Given the description of an element on the screen output the (x, y) to click on. 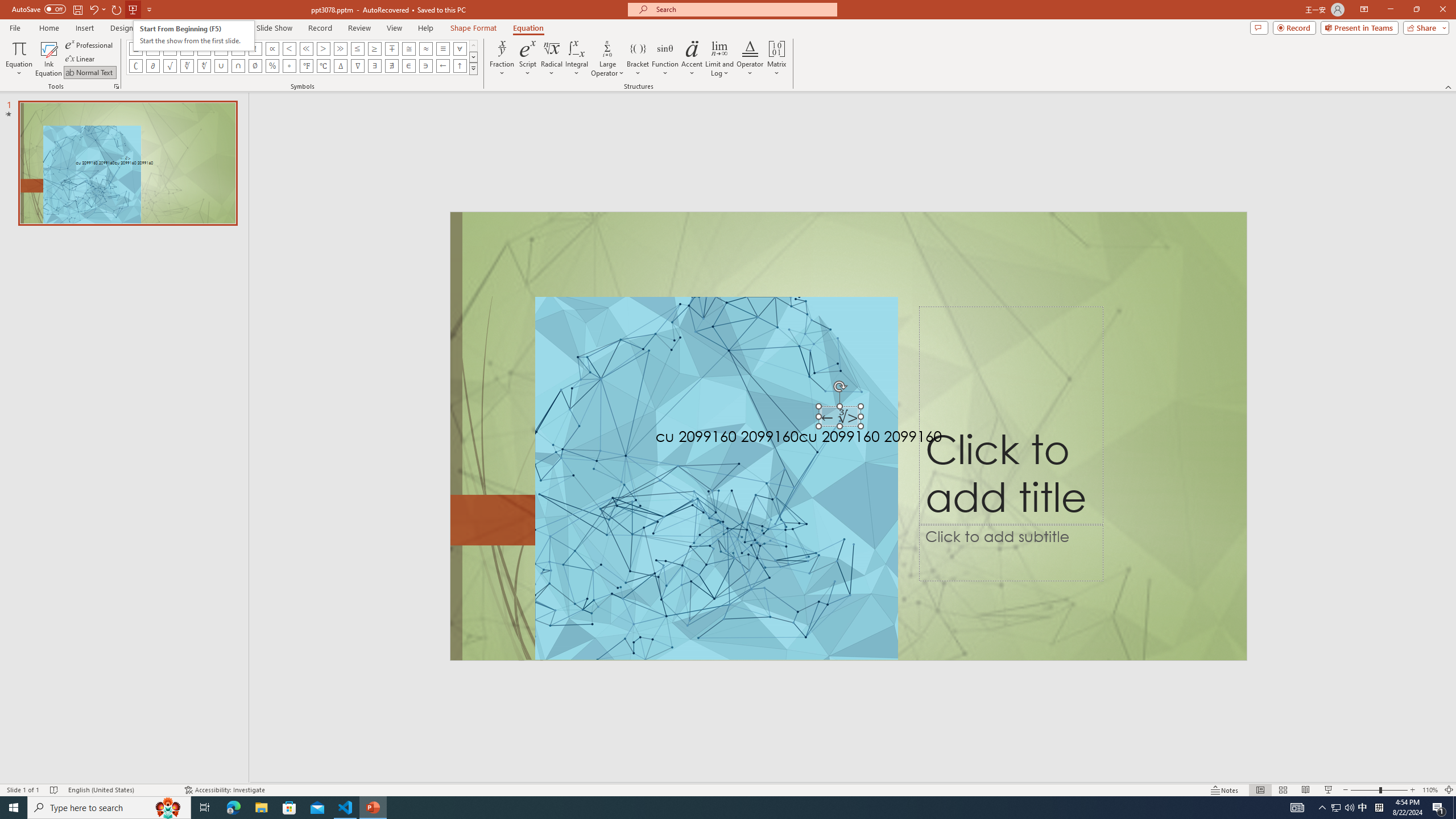
Operator (749, 58)
Equation Symbol Factorial (255, 48)
Large Operator (607, 58)
Equation Symbol Radical Sign (170, 65)
Integral (576, 58)
